Given the description of an element on the screen output the (x, y) to click on. 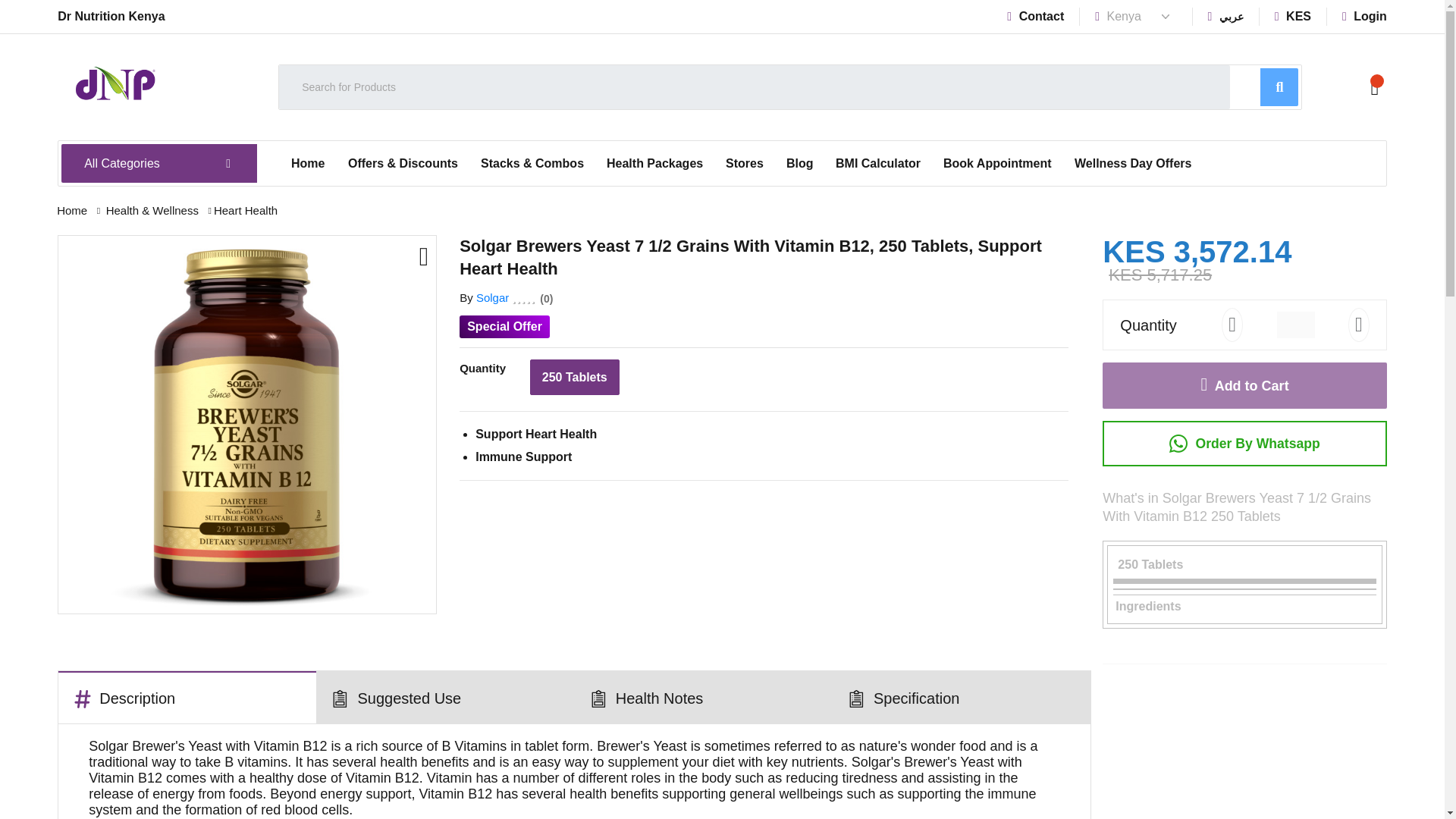
Login (1364, 16)
Login (1364, 16)
KES (1293, 16)
Health Packages (654, 163)
KES (1293, 16)
Contact (1035, 16)
Contact (1035, 16)
Home (307, 163)
